Given the description of an element on the screen output the (x, y) to click on. 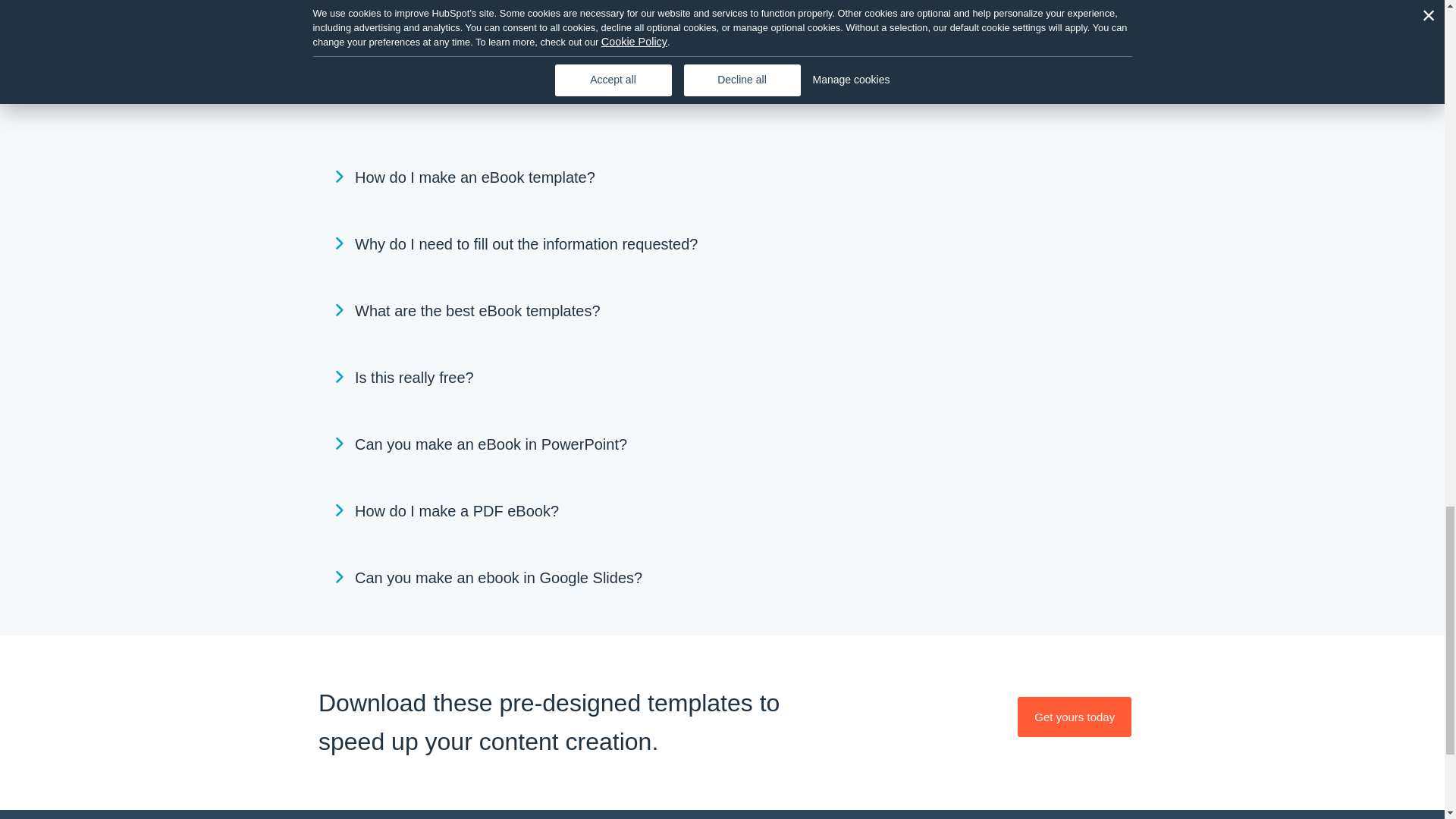
Can you make an eBook in PowerPoint? (727, 444)
What are the best eBook templates? (727, 310)
How do I make a PDF eBook? (727, 510)
Is this really free? (727, 377)
Get yours today (1074, 716)
Why do I need to fill out the information requested? (727, 243)
Can you make an ebook in Google Slides? (727, 577)
How do I make an eBook template? (727, 177)
